Given the description of an element on the screen output the (x, y) to click on. 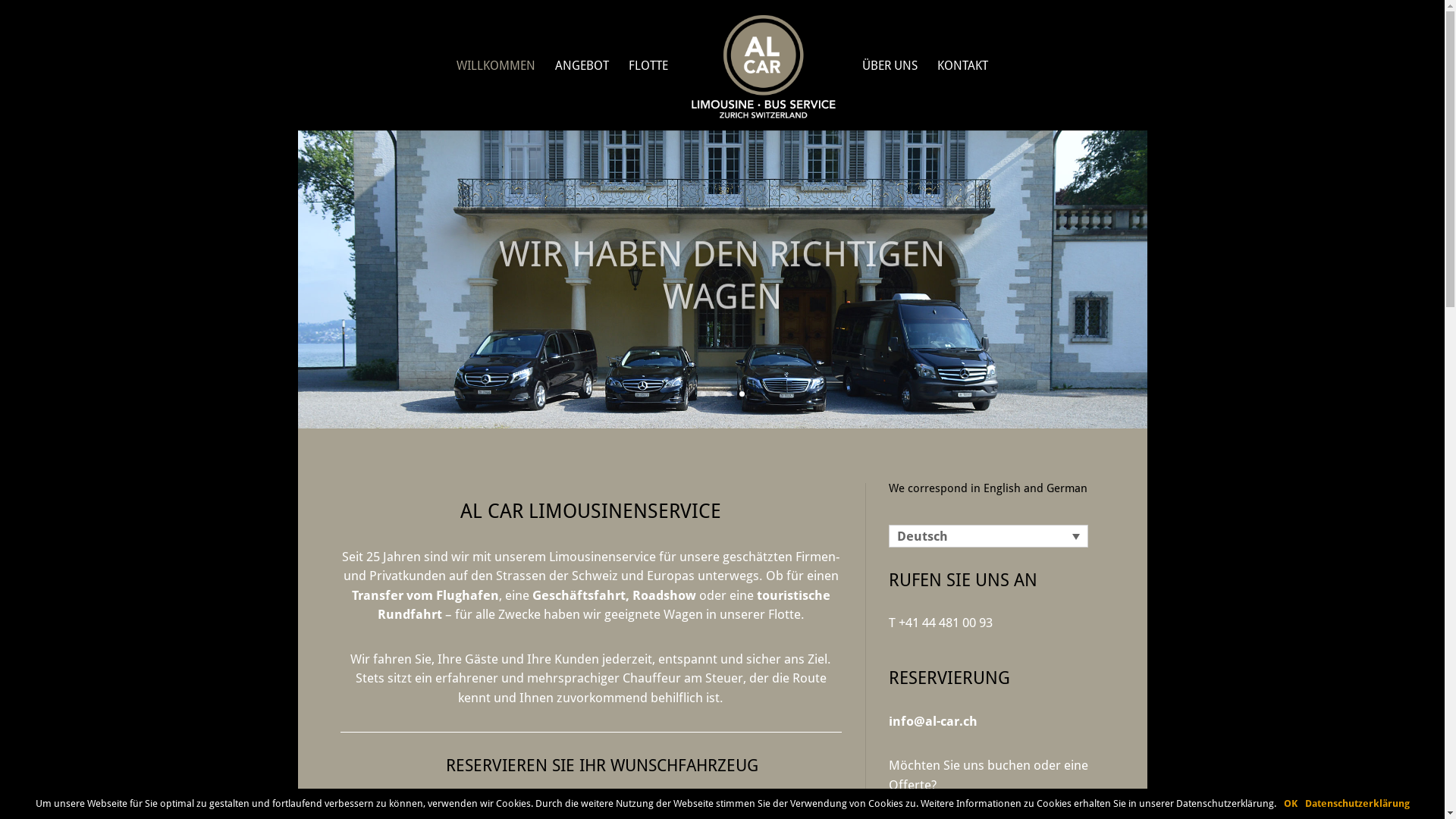
Transfer vom Flughafen Element type: text (424, 594)
touristische Rundfahrt Element type: text (603, 604)
FLOTTE Element type: text (648, 95)
2 Element type: text (715, 393)
Deutsch Element type: text (988, 535)
OK Element type: text (1289, 803)
ANGEBOT Element type: text (581, 95)
WILLKOMMEN Element type: text (495, 95)
4 Element type: text (740, 393)
1 Element type: text (703, 393)
3 Element type: text (728, 393)
KONTAKT Element type: text (962, 95)
info@al-car.ch Element type: text (932, 720)
